Given the description of an element on the screen output the (x, y) to click on. 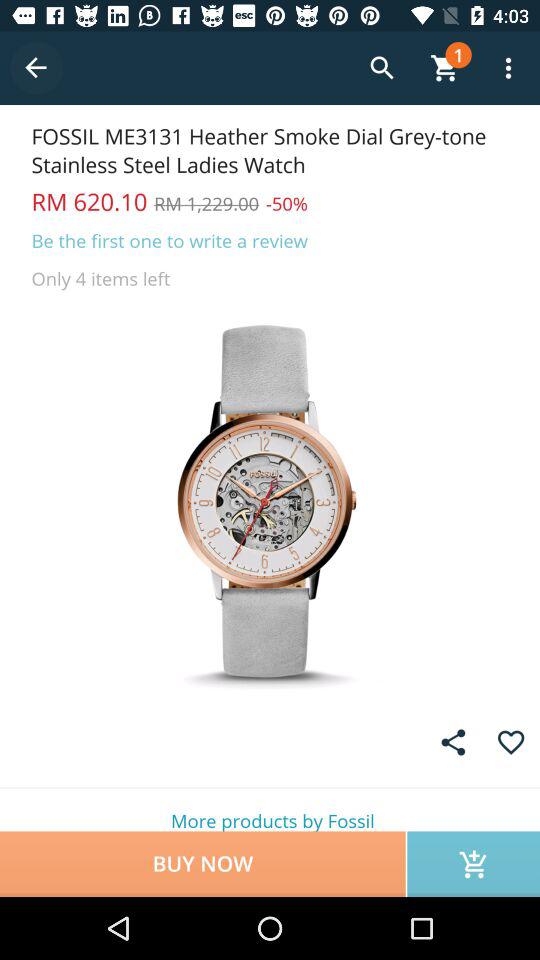
select the item above the fossil me3131 heather (36, 68)
